Given the description of an element on the screen output the (x, y) to click on. 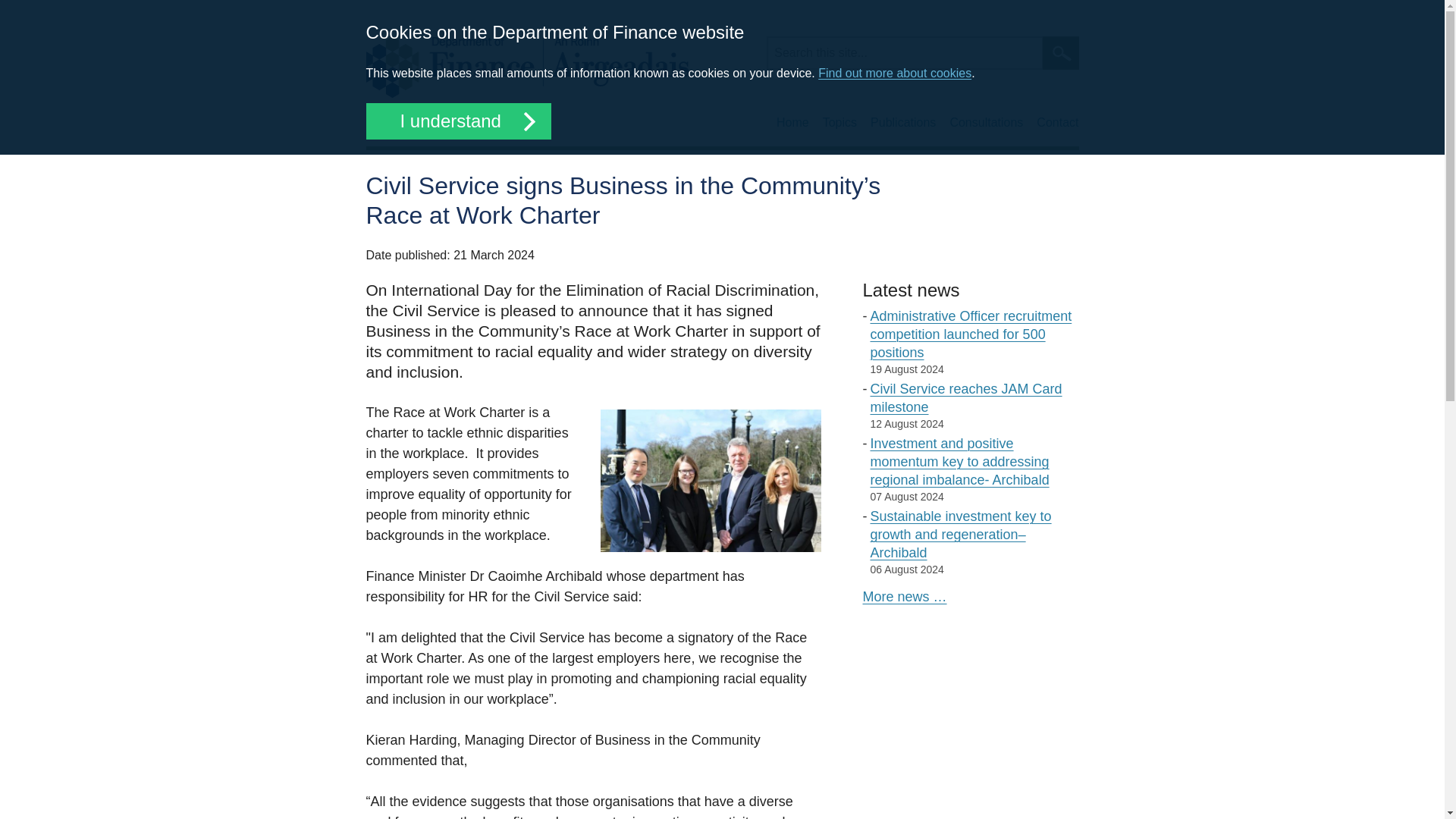
Topics (839, 122)
Search (1060, 52)
Enter the terms you wish to search for (904, 52)
Contact (1057, 122)
Find out more about cookies (894, 72)
Home (526, 67)
Search (1060, 52)
Consultations (986, 122)
Publications (903, 122)
